Given the description of an element on the screen output the (x, y) to click on. 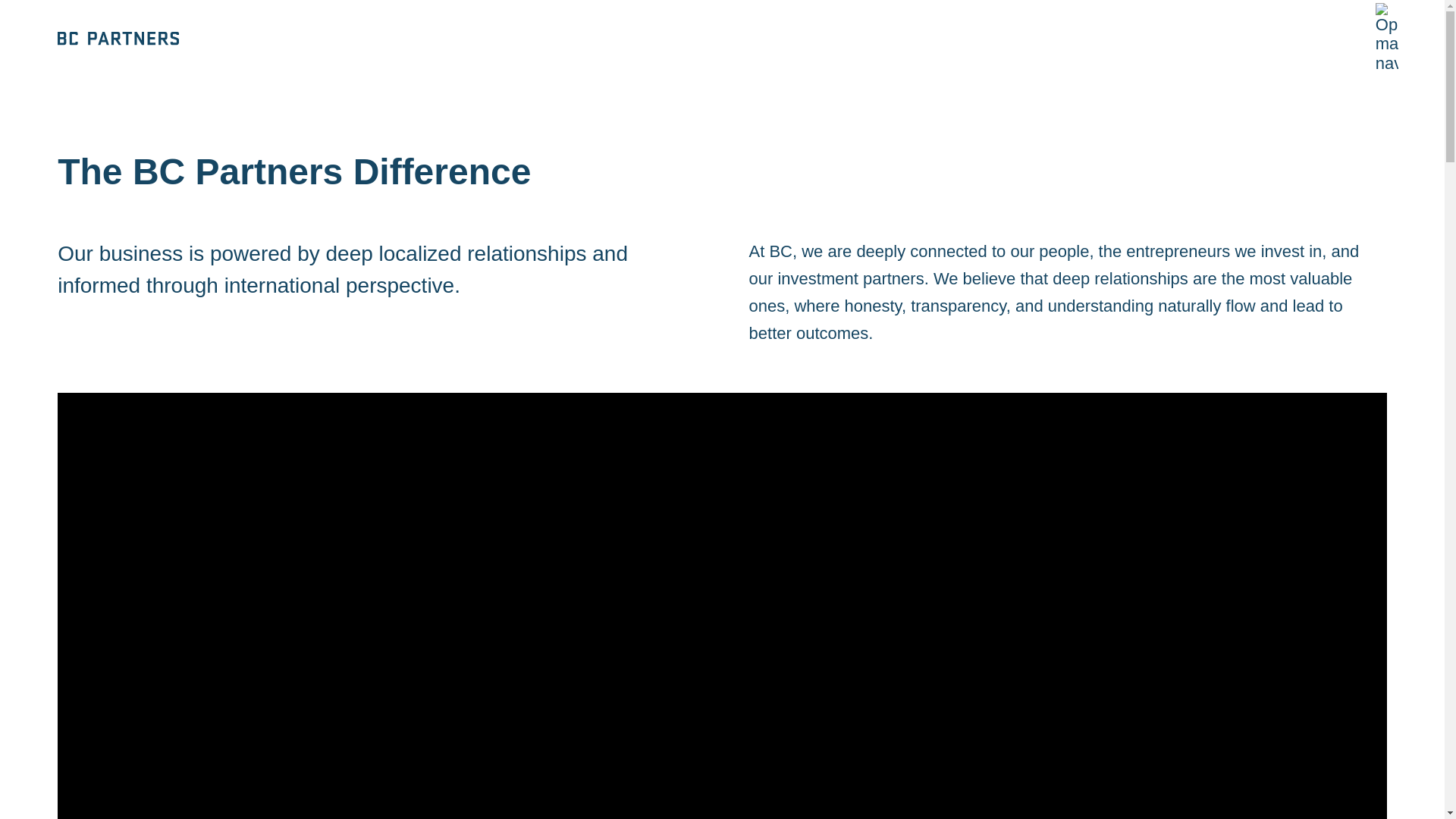
Return to the homepage (118, 38)
